Given the description of an element on the screen output the (x, y) to click on. 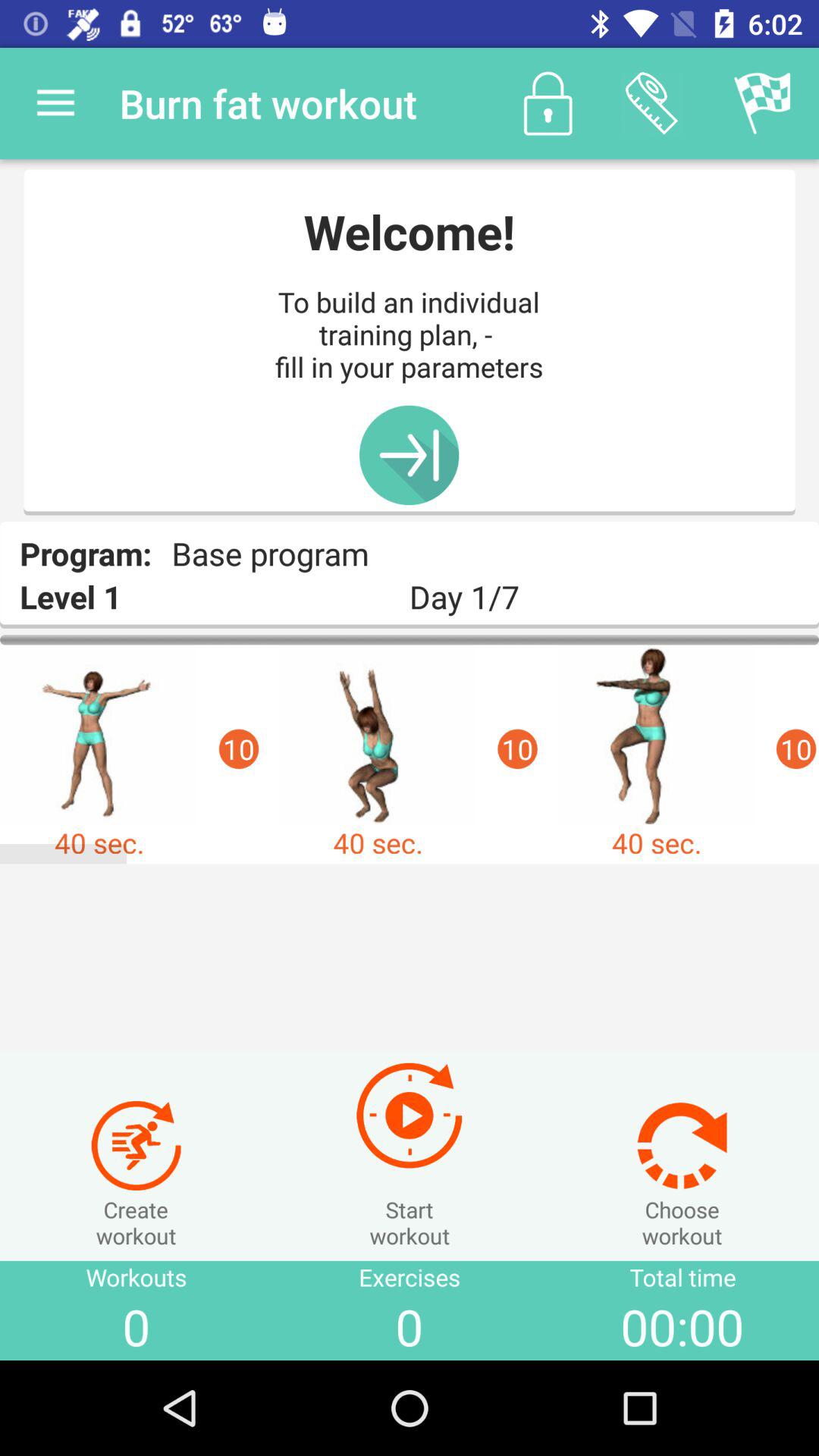
launch icon above day 1/7 (651, 103)
